Given the description of an element on the screen output the (x, y) to click on. 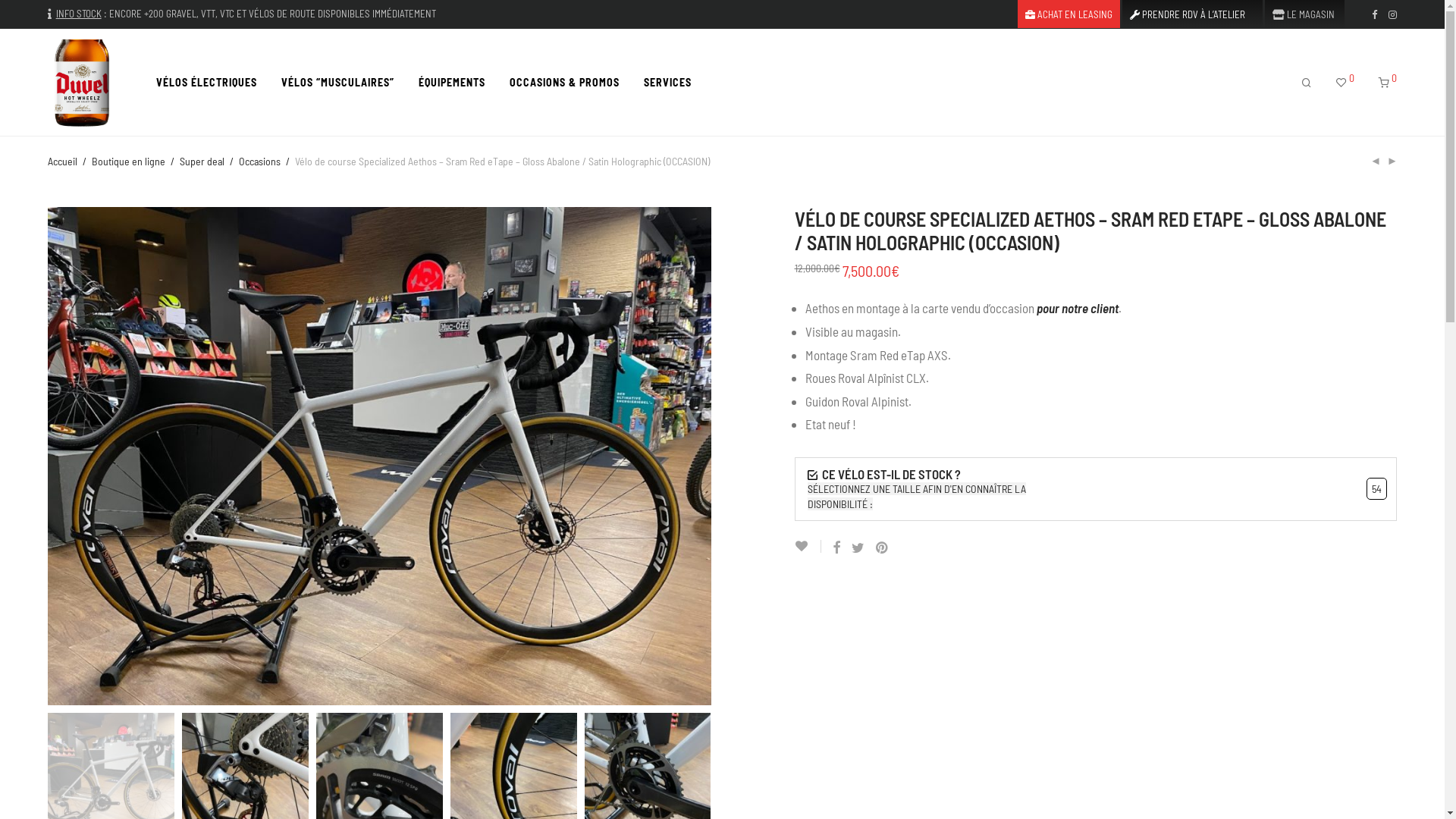
0 Element type: text (1387, 82)
0 Element type: text (1345, 82)
Share on Facebook Element type: hover (836, 547)
IMG_4305 Element type: hover (379, 456)
Instagram Element type: hover (1392, 13)
Super deal Element type: text (201, 161)
LE MAGASIN Element type: text (1299, 14)
Accueil Element type: text (62, 161)
SERVICES Element type: text (667, 82)
Share on Twitter Element type: hover (856, 547)
ACHAT EN LEASING Element type: text (1068, 14)
Facebook Element type: hover (1374, 13)
Occasions Element type: text (259, 161)
Boutique en ligne Element type: text (128, 161)
OCCASIONS & PROMOS Element type: text (564, 82)
Pin on Pinterest Element type: hover (881, 547)
